Given the description of an element on the screen output the (x, y) to click on. 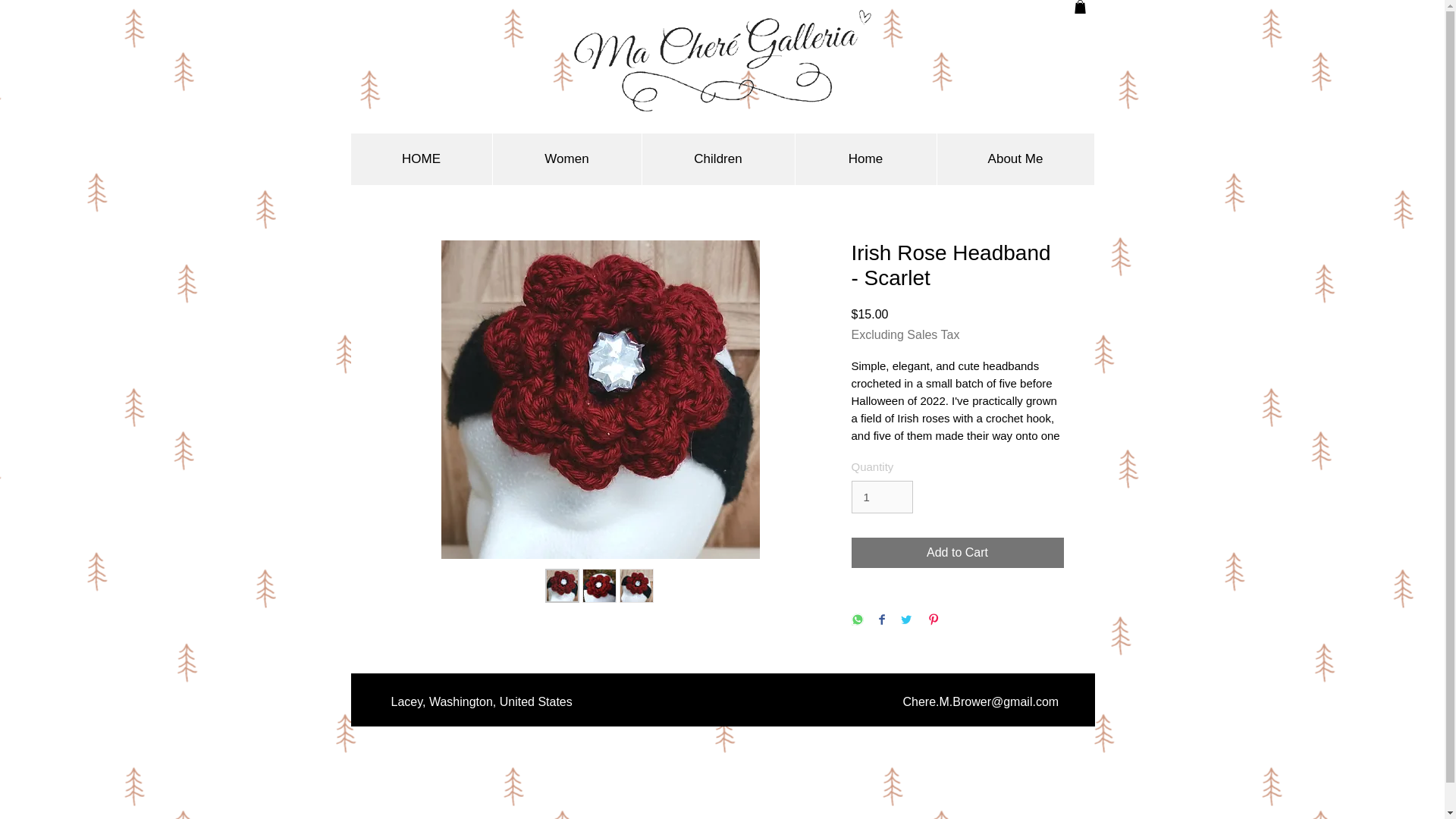
1 (881, 497)
www.MaChereGalleria.com (897, 698)
Add to Cart (956, 552)
Home (865, 159)
Children (718, 159)
About Me (1014, 159)
Women (566, 159)
HOME (421, 159)
